Given the description of an element on the screen output the (x, y) to click on. 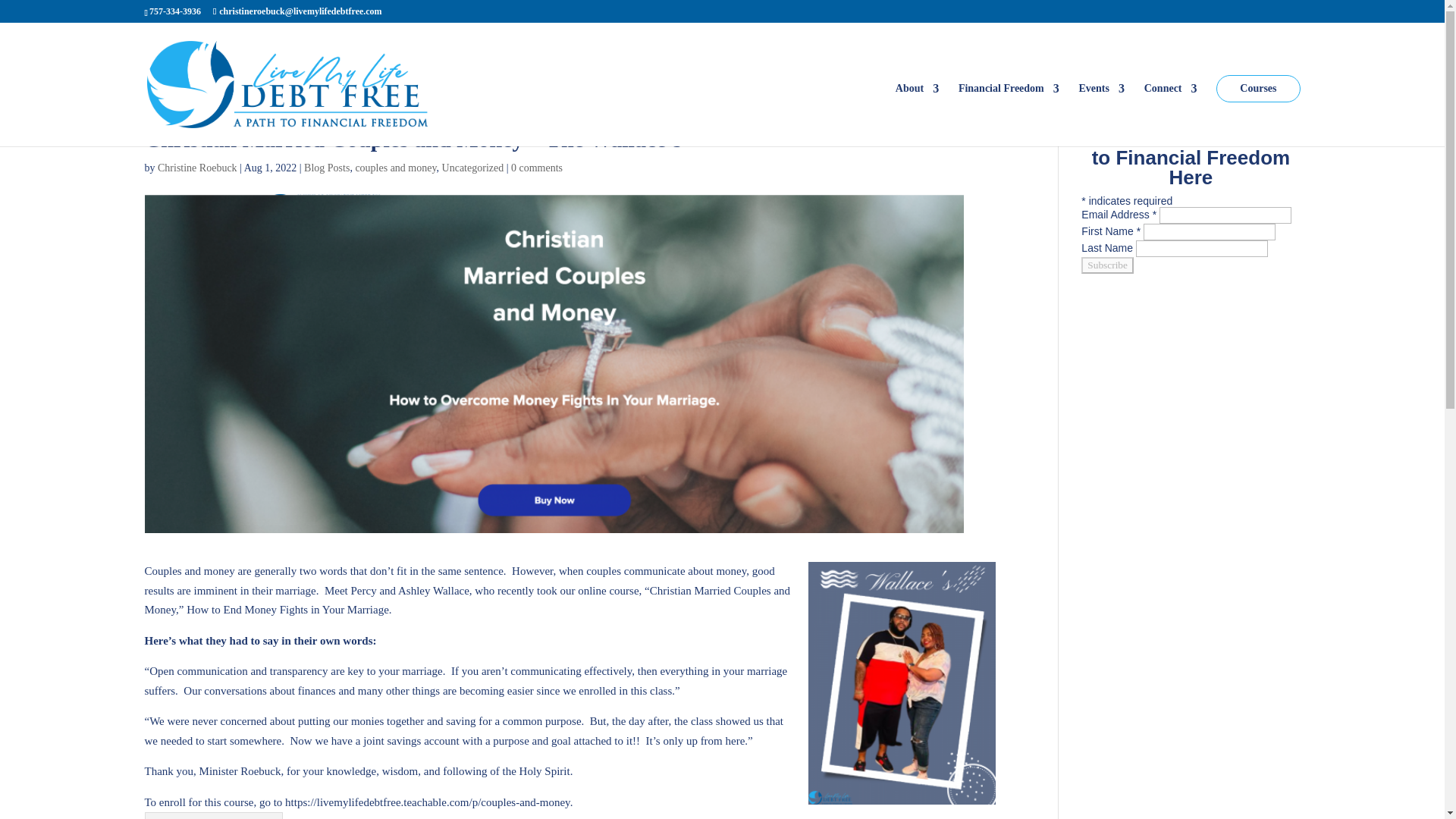
Courses (1257, 88)
Blog Posts (326, 167)
Financial Freedom (1008, 114)
Uncategorized (472, 167)
Subscribe (1107, 265)
Posts by Christine Roebuck (197, 167)
couples and money (395, 167)
Subscribe (1107, 265)
Christine Roebuck (197, 167)
0 comments (536, 167)
